Given the description of an element on the screen output the (x, y) to click on. 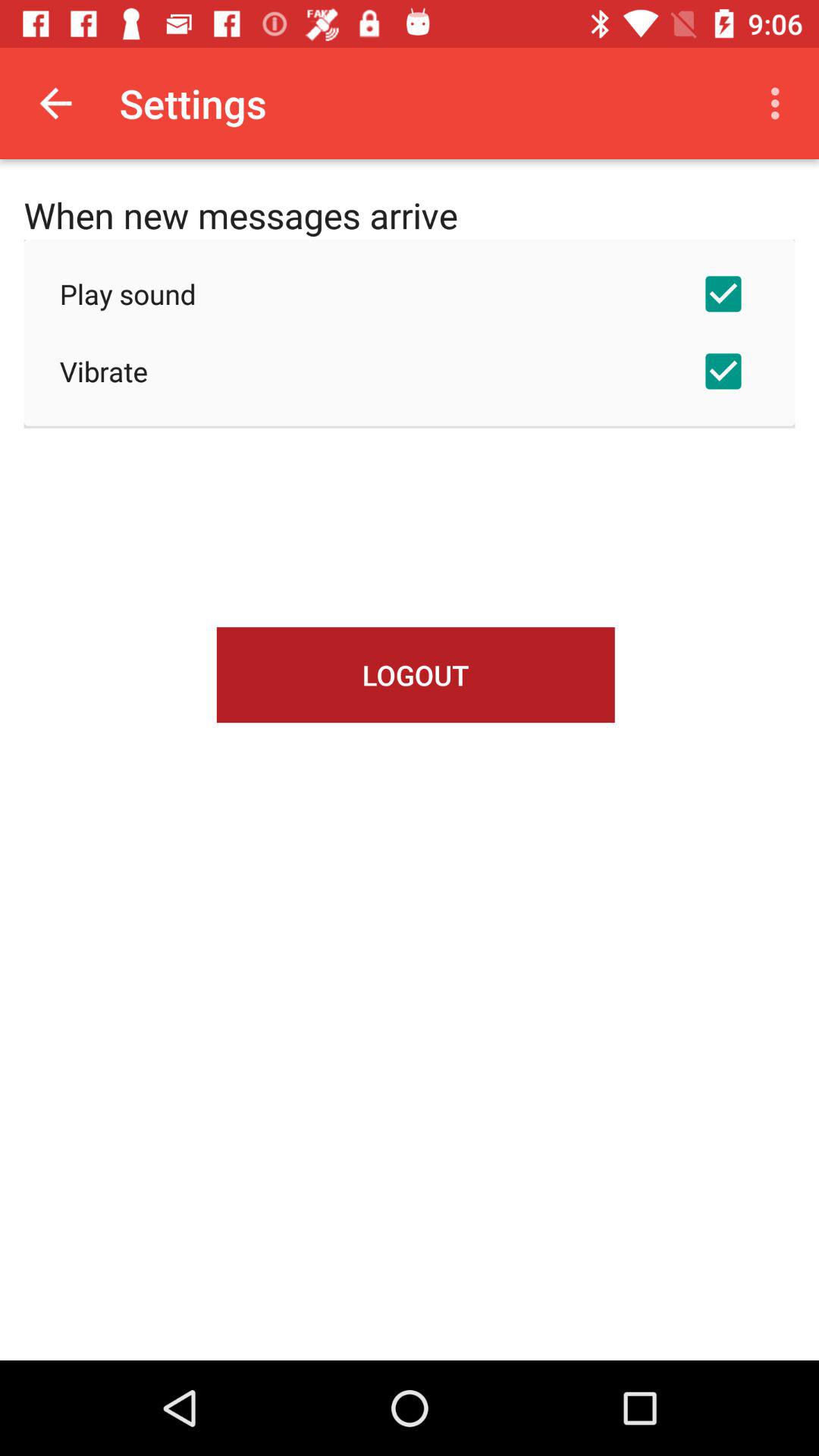
click play sound (409, 293)
